Given the description of an element on the screen output the (x, y) to click on. 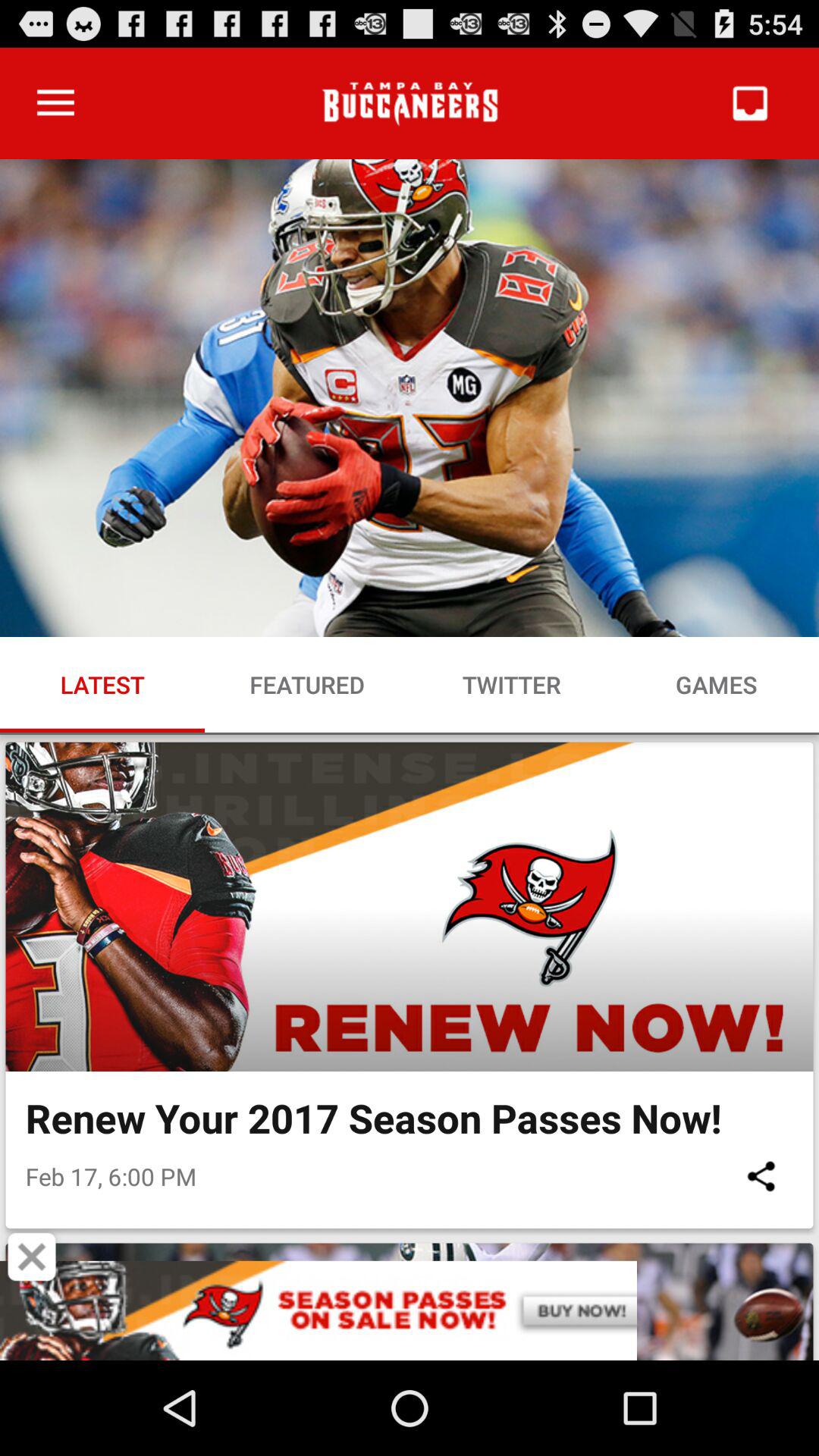
turn off the item below the renew your 2017 item (761, 1176)
